Given the description of an element on the screen output the (x, y) to click on. 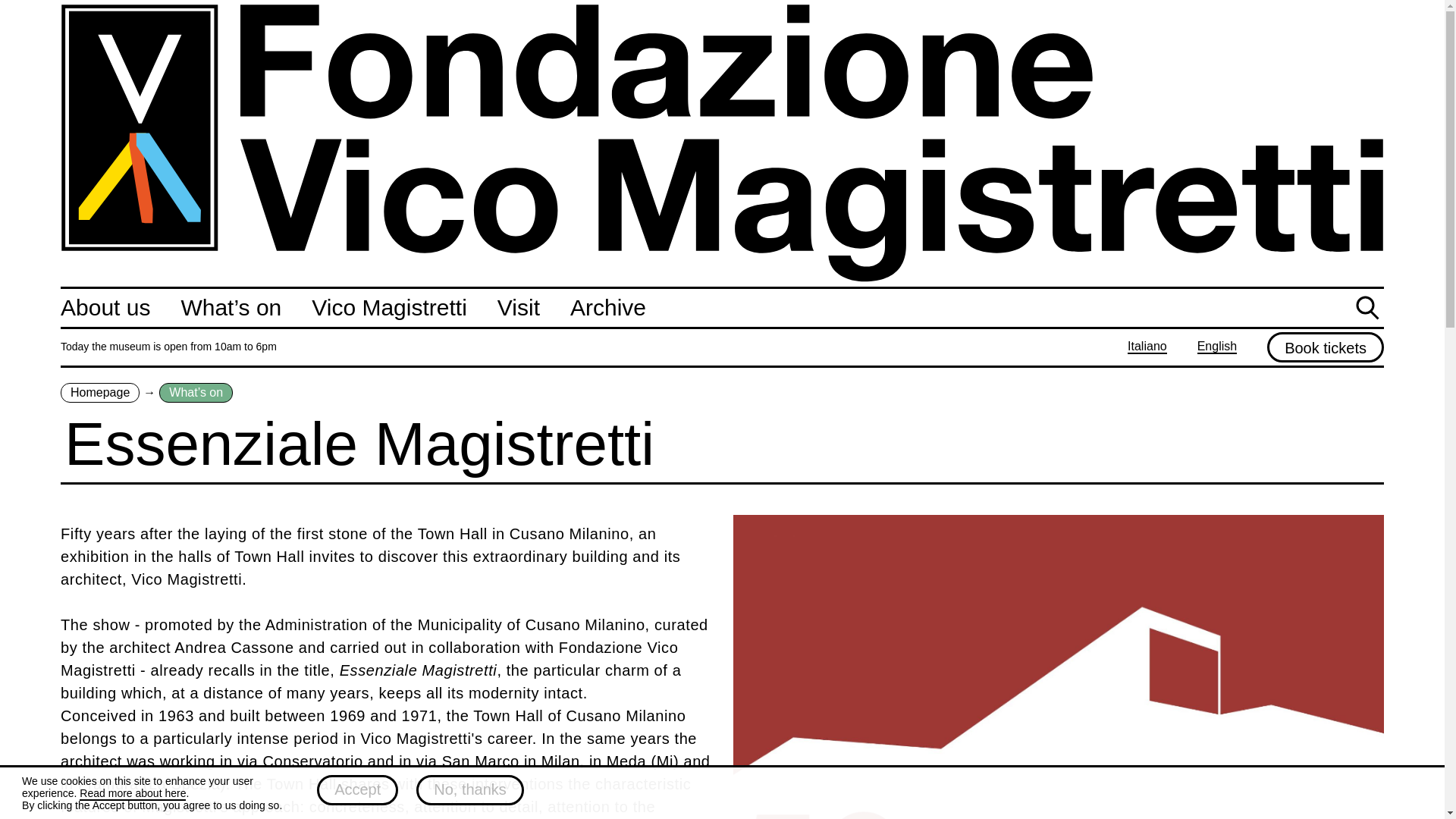
Archive (608, 307)
Visit (518, 307)
Vico Magistretti (389, 307)
Italiano (1146, 346)
Homepage (100, 392)
About us (105, 307)
Book tickets (1325, 347)
English (1216, 346)
search (1369, 309)
